Given the description of an element on the screen output the (x, y) to click on. 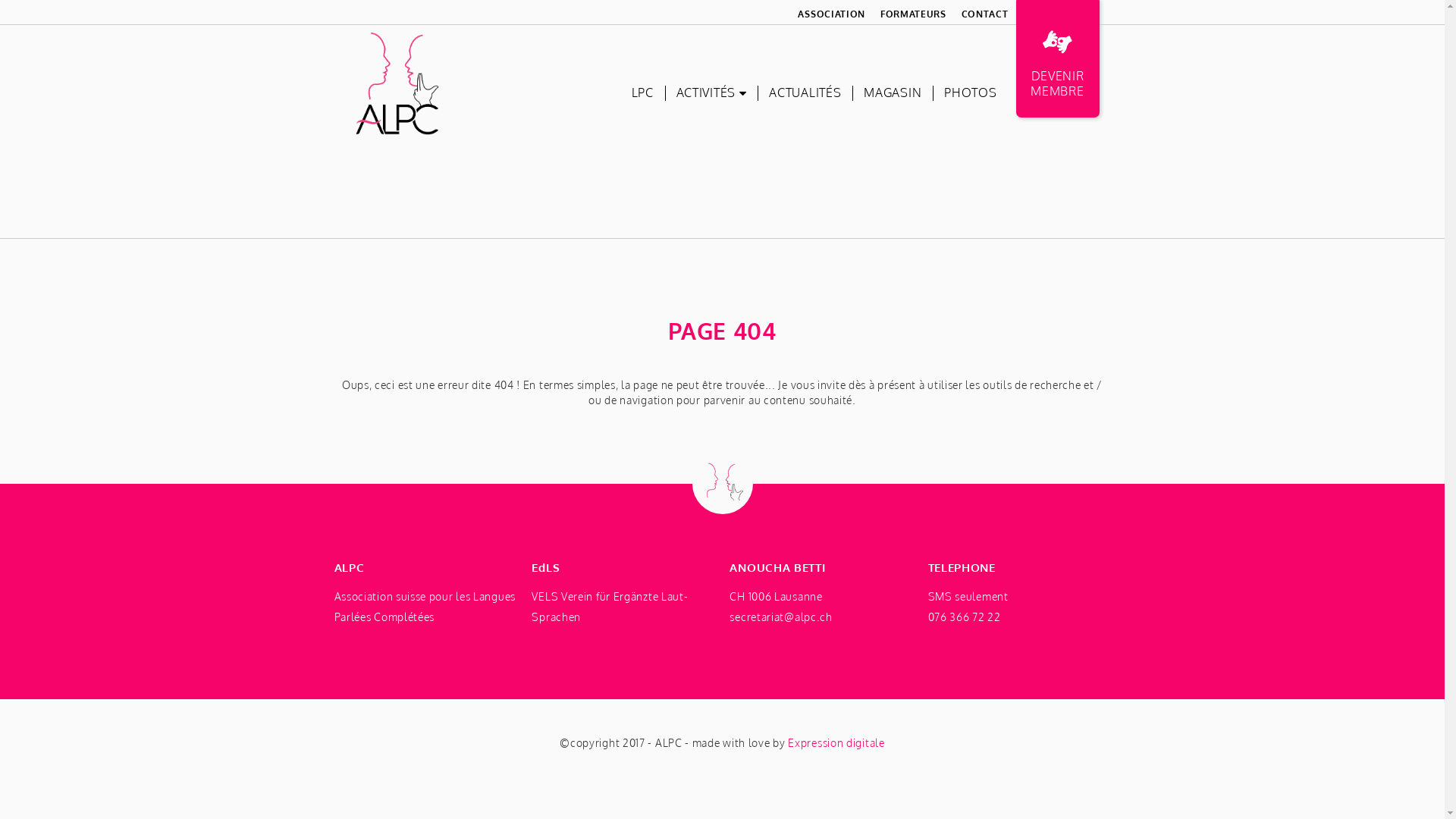
ASSOCIATION Element type: text (831, 13)
CONTACT Element type: text (984, 13)
alpc Element type: hover (395, 82)
PHOTOS Element type: text (969, 92)
LPC Element type: text (642, 92)
MAGASIN Element type: text (892, 92)
DEVENIR MEMBRE Element type: text (1057, 60)
FORMATEURS Element type: text (913, 13)
Expression digitale Element type: text (835, 742)
secretariat@alpc.ch Element type: text (780, 616)
logo de l'association ALPC Element type: hover (395, 83)
